Given the description of an element on the screen output the (x, y) to click on. 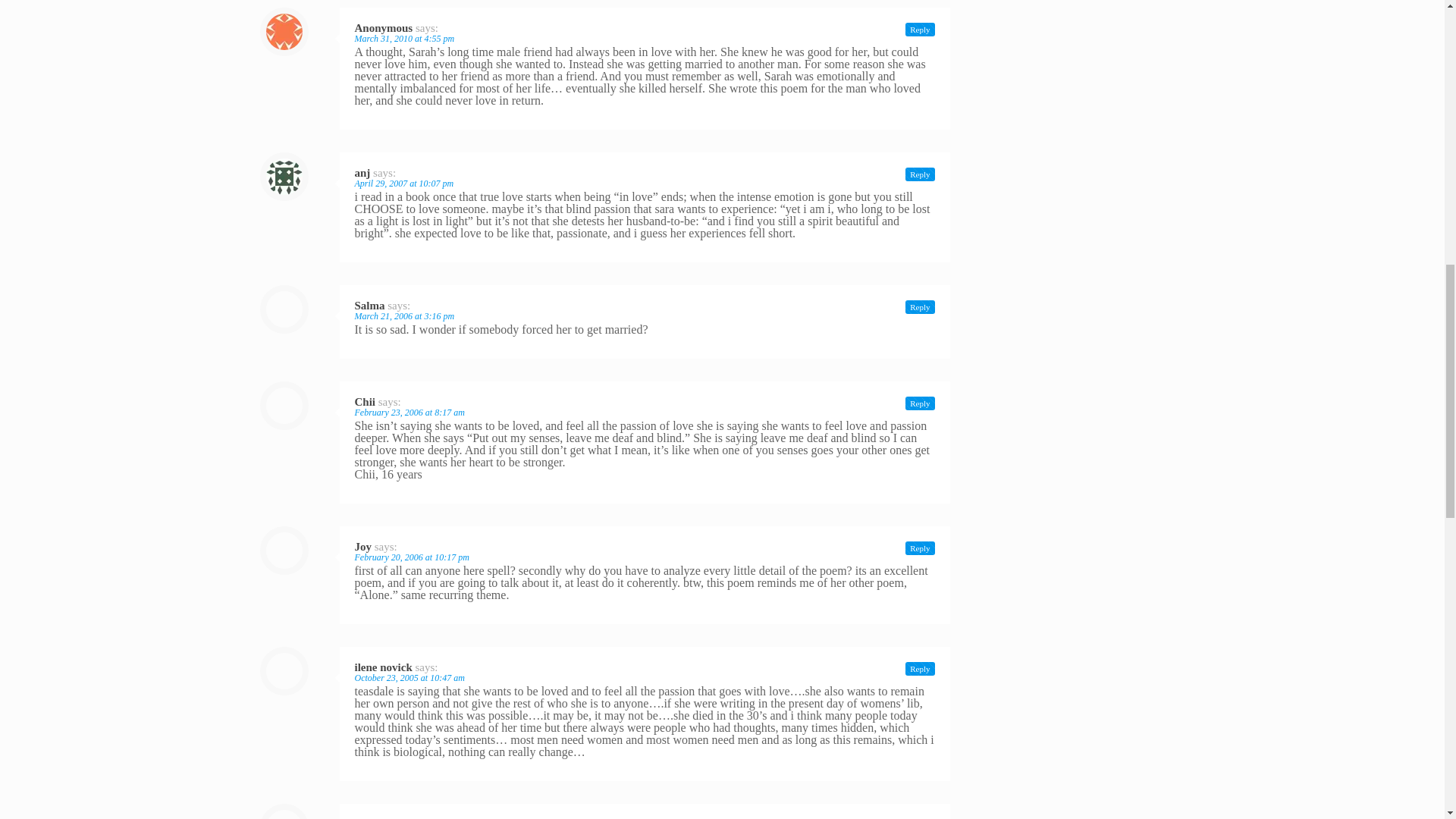
March 31, 2010 at 4:55 pm (404, 38)
February 20, 2006 at 10:17 pm (411, 557)
October 23, 2005 at 10:47 am (409, 677)
April 29, 2007 at 10:07 pm (404, 183)
Reply (919, 668)
Reply (919, 403)
March 21, 2006 at 3:16 pm (404, 316)
Reply (919, 29)
Reply (919, 306)
February 23, 2006 at 8:17 am (409, 412)
Reply (919, 173)
Reply (919, 548)
